Given the description of an element on the screen output the (x, y) to click on. 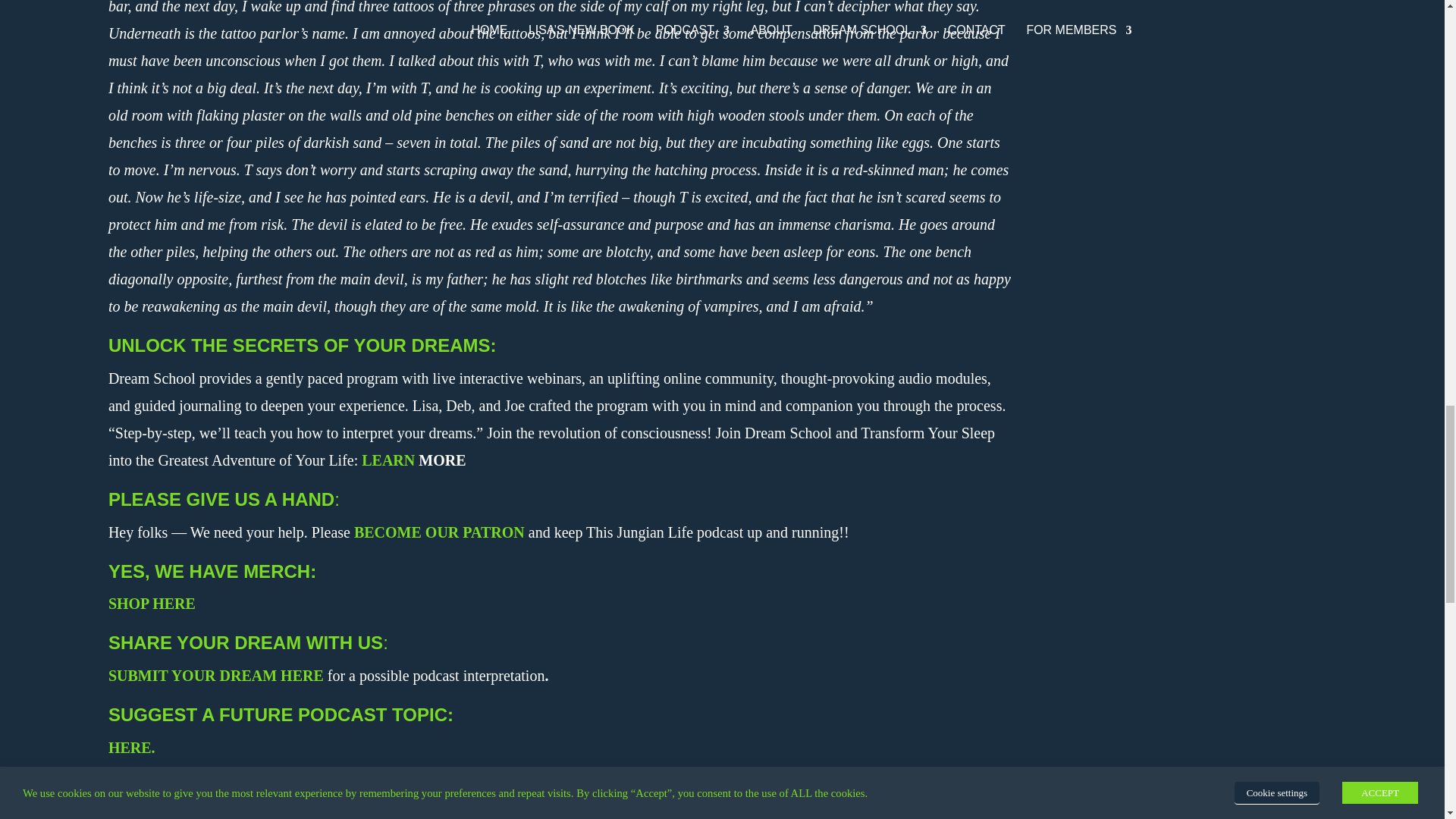
FACEBOOK (150, 815)
LEARN (387, 460)
YOUTUBE (502, 815)
SUBMIT YOUR DREAM HERE (215, 675)
BECOME OUR PATRON (438, 532)
TWITTER (423, 815)
LINKEDIN (340, 815)
HERE. (131, 747)
INSTAGRAM (248, 815)
SHOP HERE (151, 603)
